Given the description of an element on the screen output the (x, y) to click on. 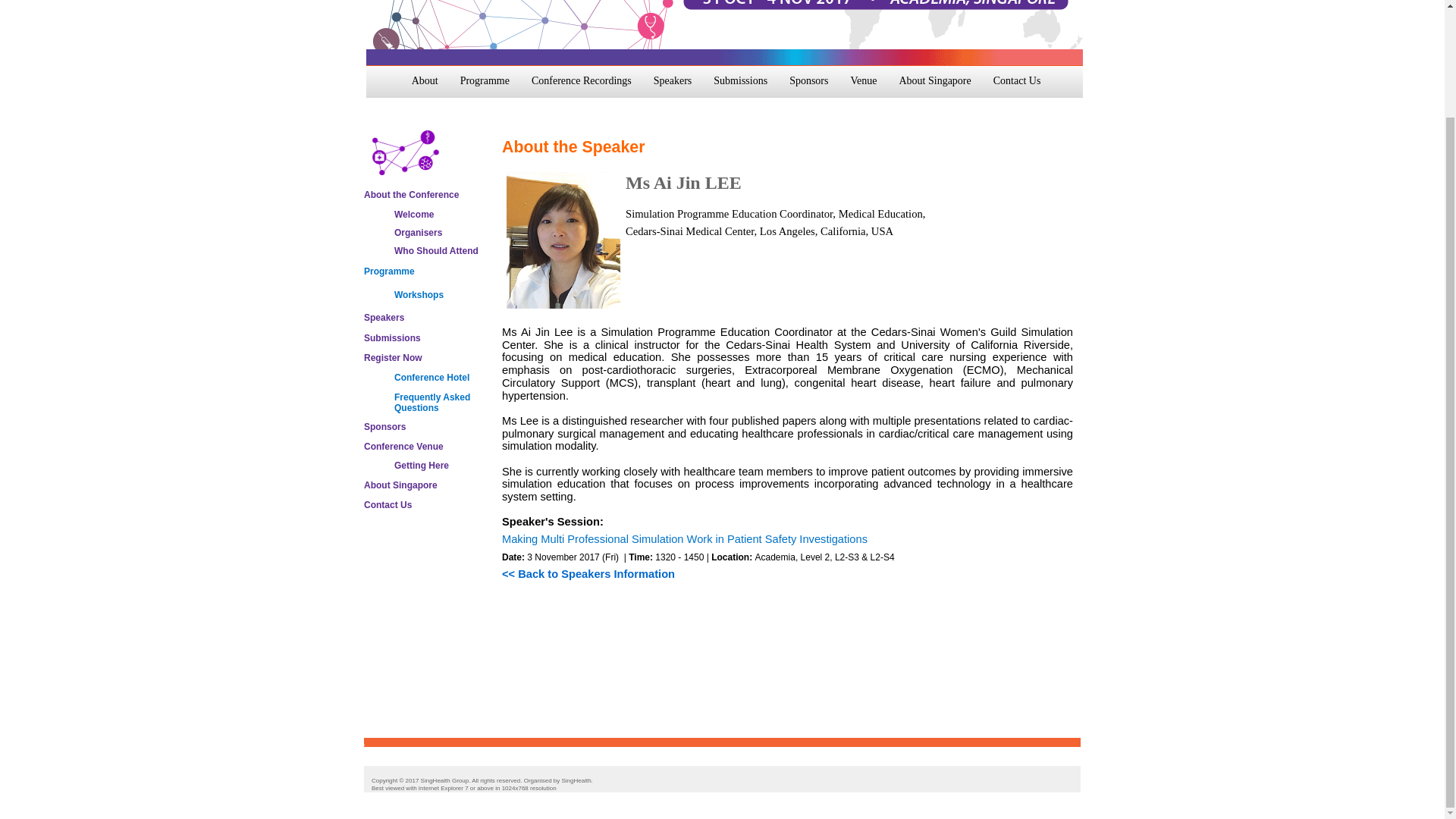
Getting Here (421, 465)
Workshops (419, 294)
Frequently Asked Questions (432, 402)
Submissions (392, 337)
Speakers (384, 317)
Conference Venue (404, 446)
Contact Us (1016, 86)
Submissions (740, 86)
Register Now (393, 357)
Sponsors (385, 426)
Speakers (673, 86)
Programme (389, 271)
Conference Recordings (581, 86)
Contact Us (388, 504)
